Given the description of an element on the screen output the (x, y) to click on. 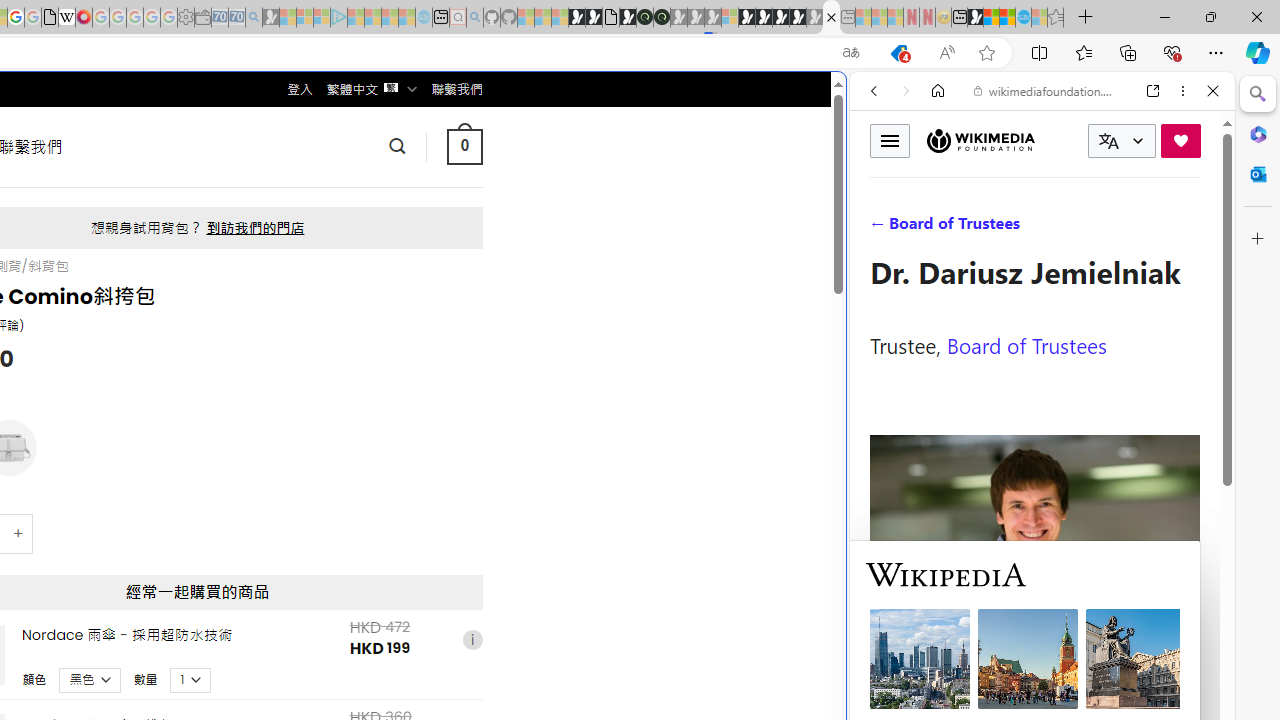
Earth has six continents not seven, radical new study claims (1007, 17)
 0  (464, 146)
Class: i icon icon-translate language-switcher__icon (1108, 141)
